Given the description of an element on the screen output the (x, y) to click on. 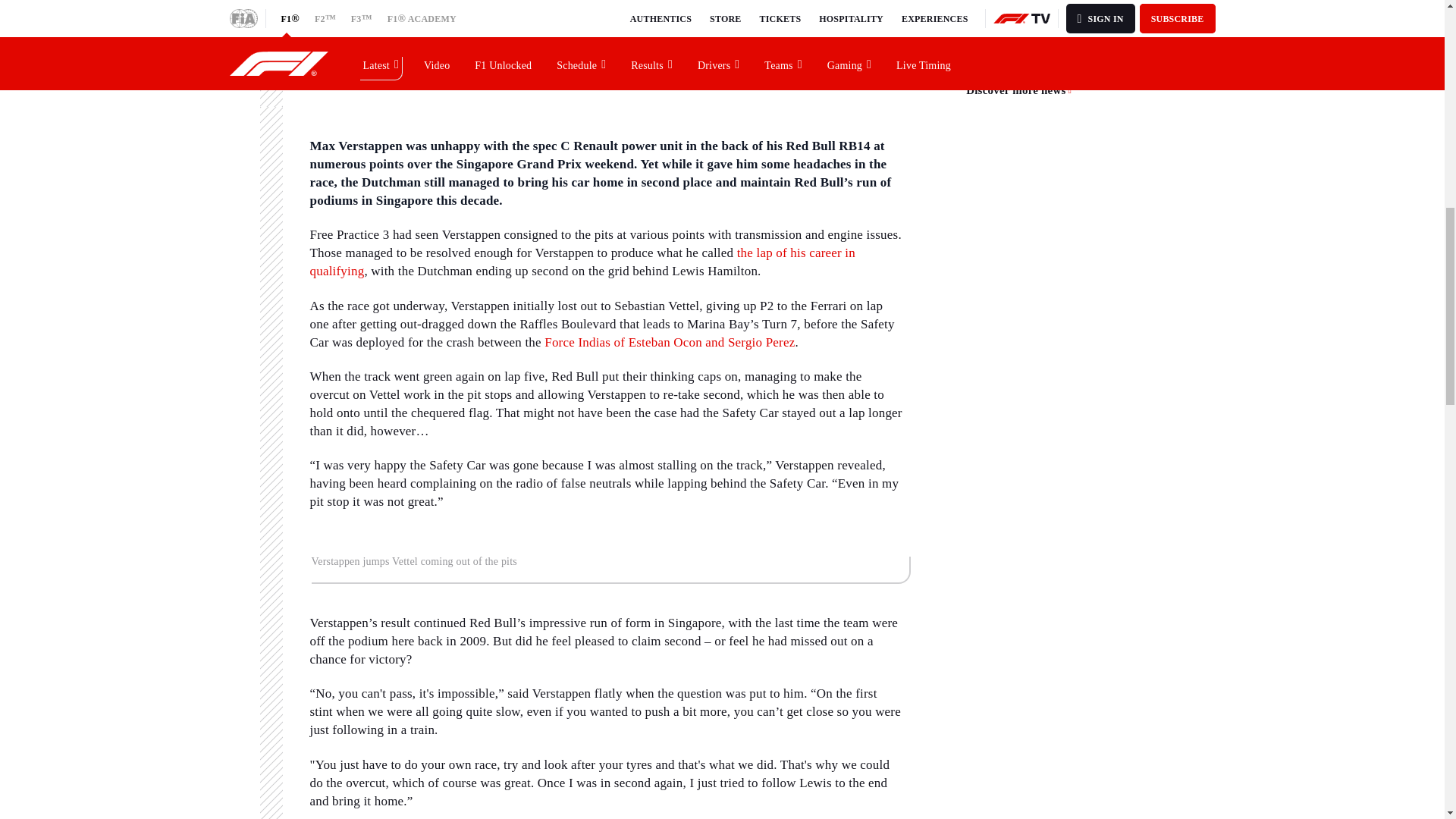
Discover more news (1018, 90)
RACE: Ocon crashes out as Force Indias clash on Lap 1 (669, 341)
